Given the description of an element on the screen output the (x, y) to click on. 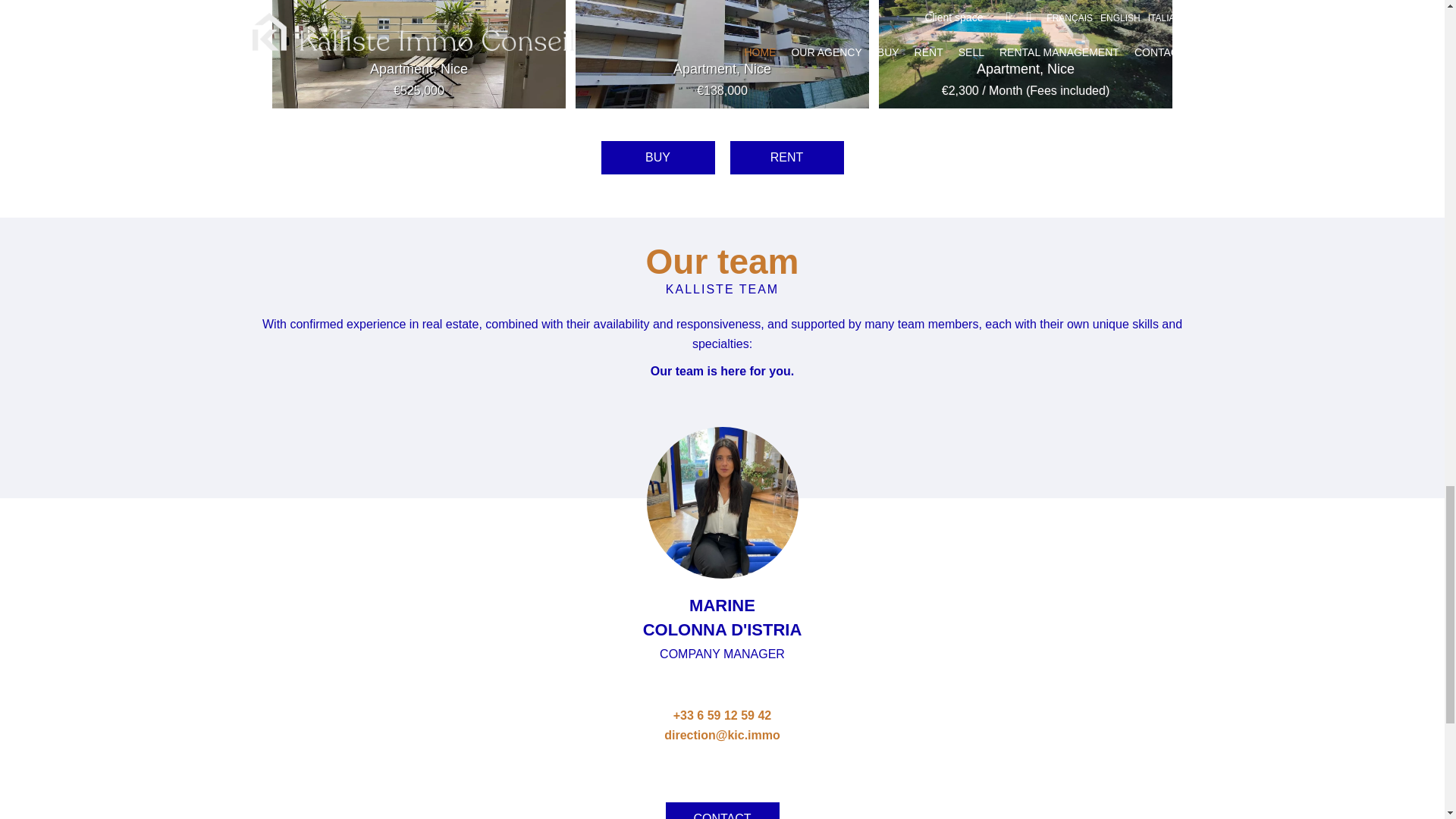
Sale Apartment Nice Saint Sylvestre (722, 49)
Sale Apartment Nice Le Port (418, 49)
RENT (786, 156)
CONTACT (721, 815)
Rental Apartment Nice Fac de Lettres (1026, 49)
BUY (657, 156)
